Given the description of an element on the screen output the (x, y) to click on. 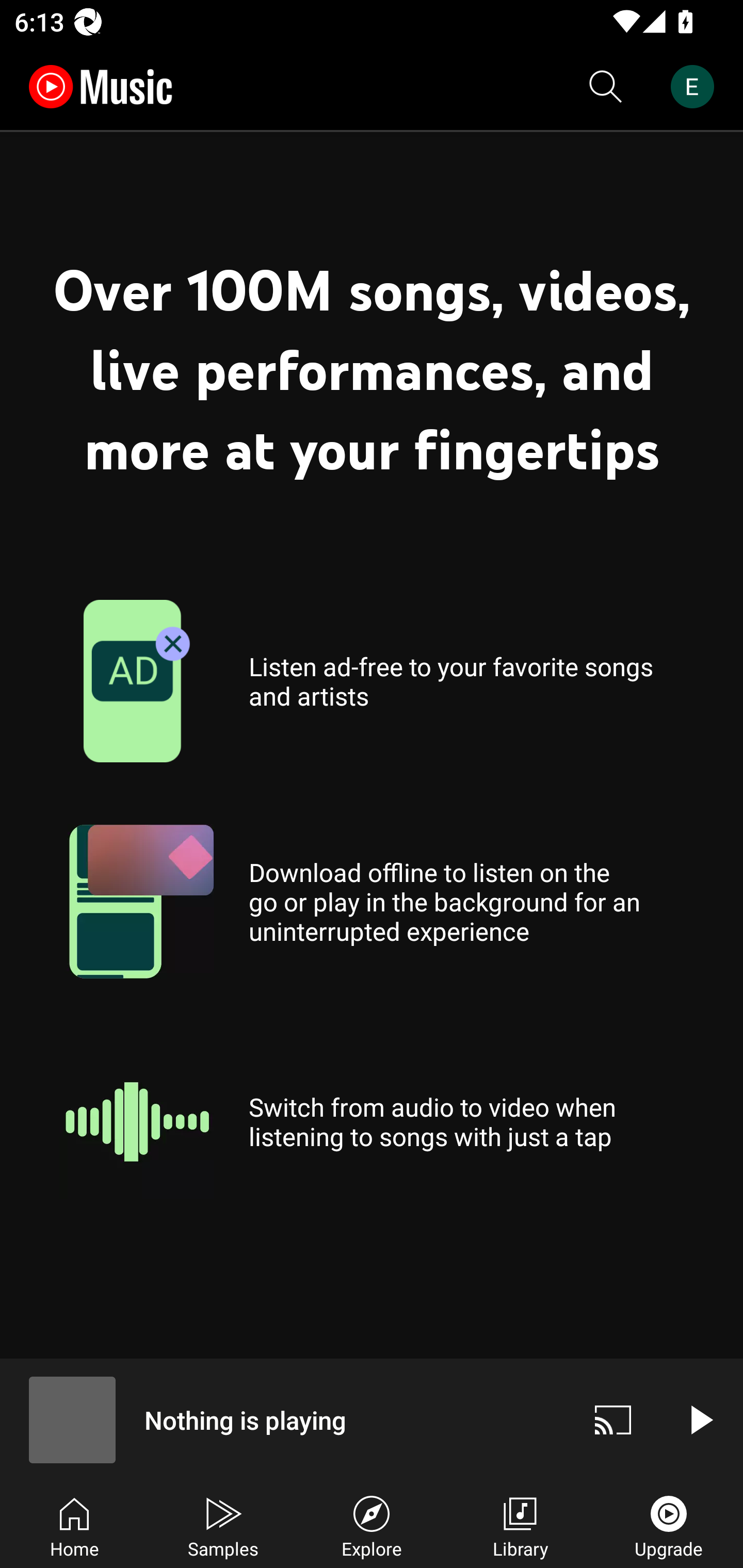
Search (605, 86)
Account (696, 86)
Nothing is playing (284, 1419)
Cast. Disconnected (612, 1419)
Play video (699, 1419)
Home (74, 1524)
Samples (222, 1524)
Explore (371, 1524)
Library (519, 1524)
